Given the description of an element on the screen output the (x, y) to click on. 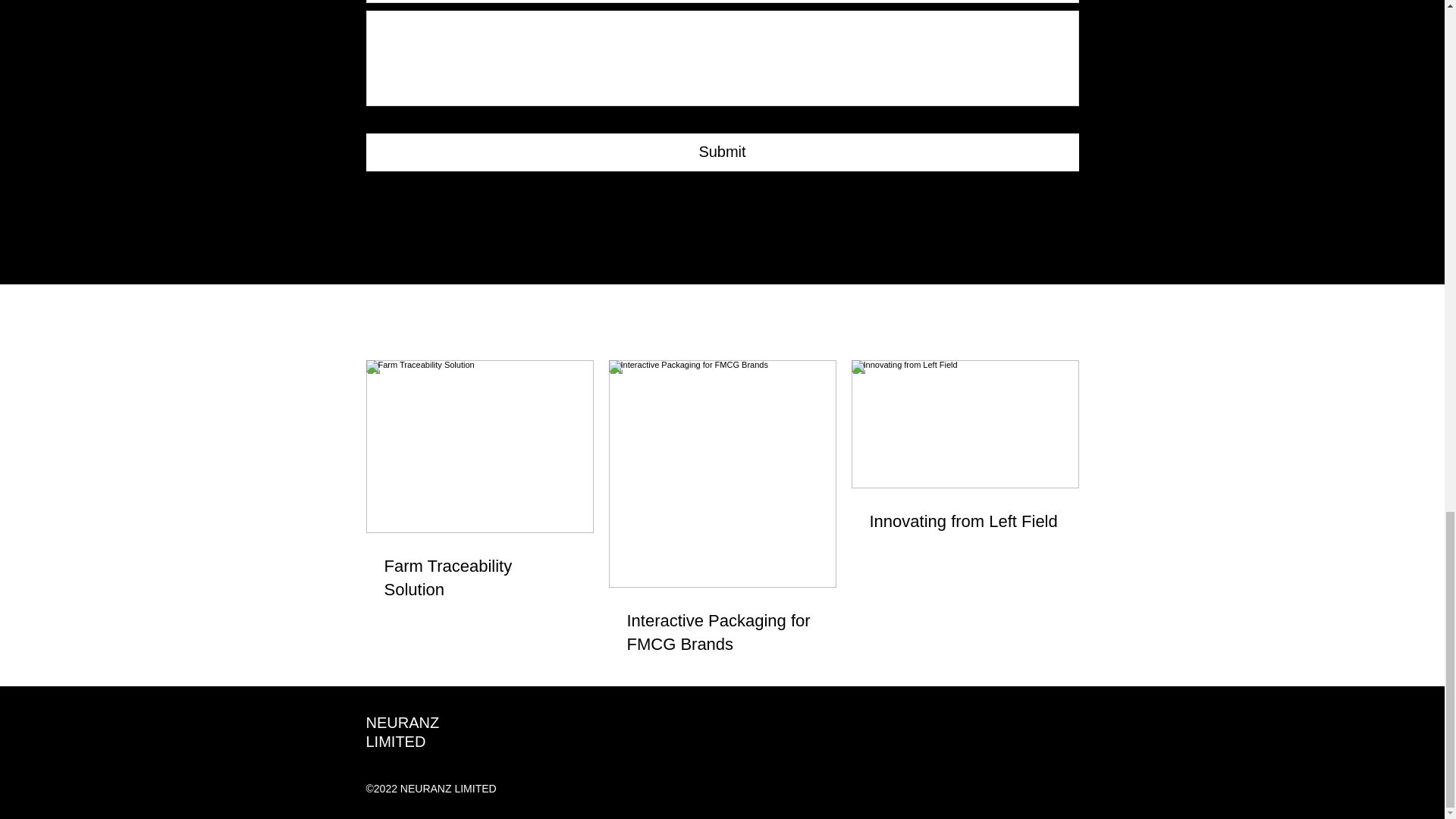
Farm Traceability Solution (479, 578)
Submit (721, 152)
Innovating from Left Field (964, 521)
NEURANZ LIMITED (402, 732)
Interactive Packaging for FMCG Brands (721, 632)
